Given the description of an element on the screen output the (x, y) to click on. 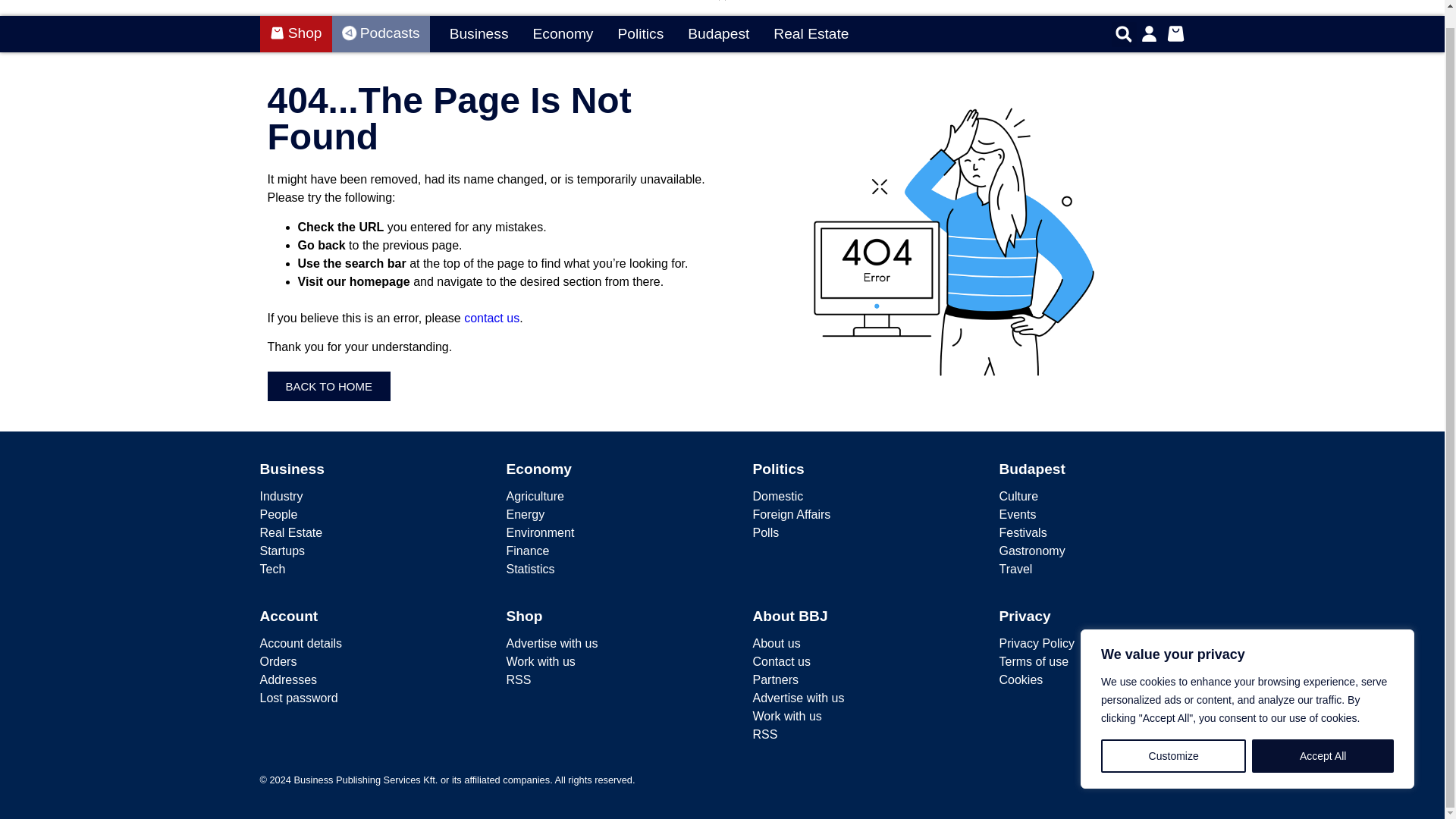
Energy (599, 515)
Tech (352, 569)
Shop (295, 33)
Agriculture (599, 496)
Economy (539, 468)
Real Estate (810, 34)
Business (478, 34)
Startups (352, 551)
People (352, 515)
contact us (491, 318)
Podcasts (380, 33)
Politics (640, 34)
Customize (1173, 738)
BACK TO HOME (328, 386)
Real Estate (352, 533)
